Given the description of an element on the screen output the (x, y) to click on. 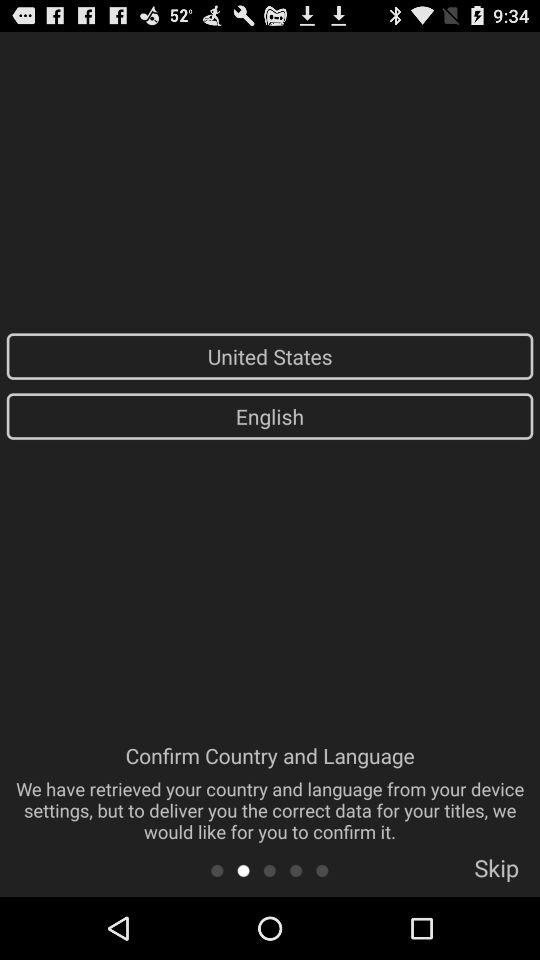
jump until skip (496, 873)
